Given the description of an element on the screen output the (x, y) to click on. 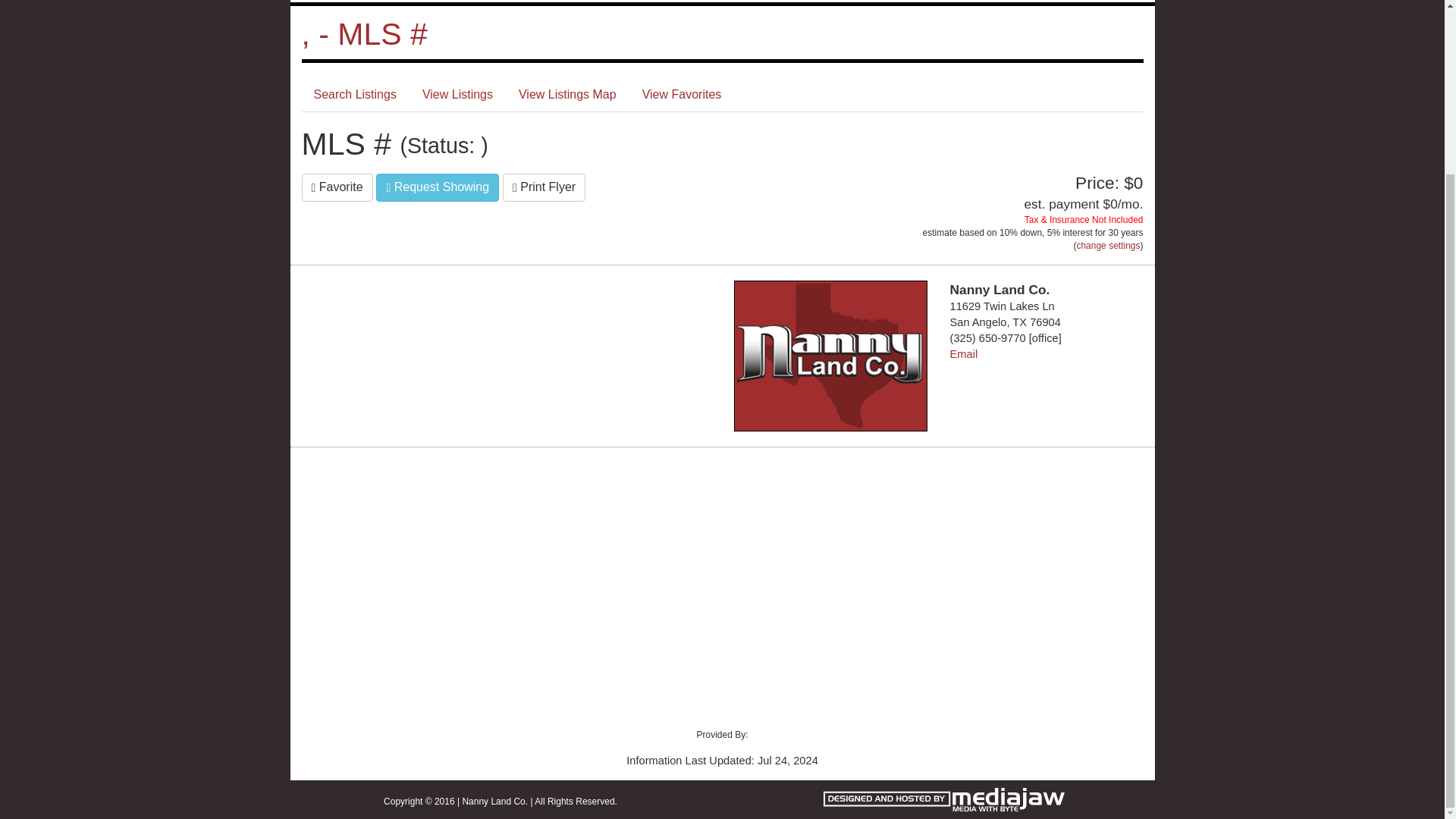
Residential (660, 1)
Search Listings (355, 94)
Acreage (545, 1)
Contact (1102, 1)
Commercial (789, 1)
View Listings Map (567, 94)
Commercial (789, 1)
change settings (1107, 245)
Agents (1002, 1)
Featured (436, 1)
Print Flyer (543, 187)
View Favorites (681, 94)
Home (334, 1)
Favorite (336, 187)
Featured (436, 1)
